Given the description of an element on the screen output the (x, y) to click on. 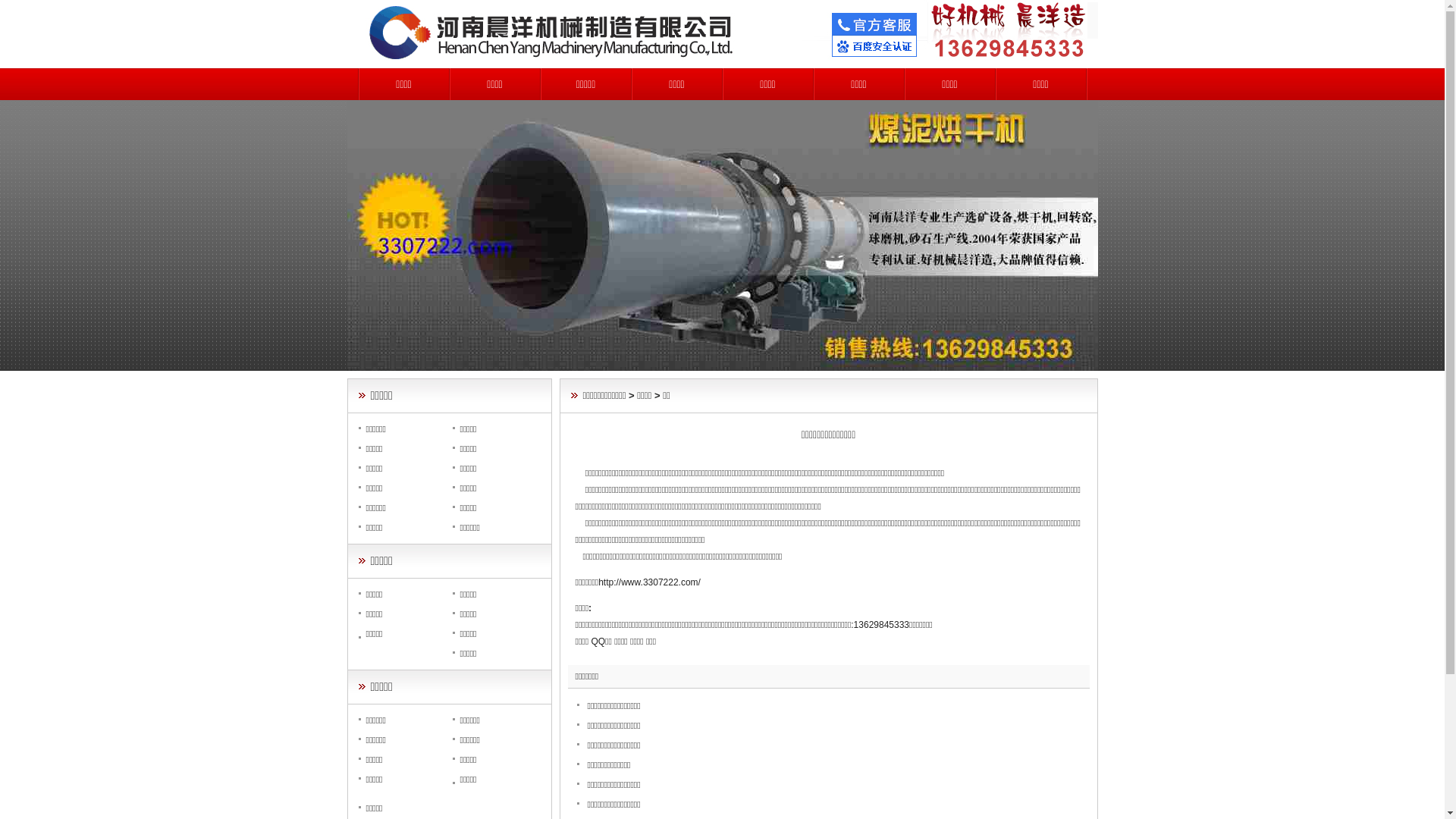
http://www.3307222.com/ Element type: text (649, 582)
